Given the description of an element on the screen output the (x, y) to click on. 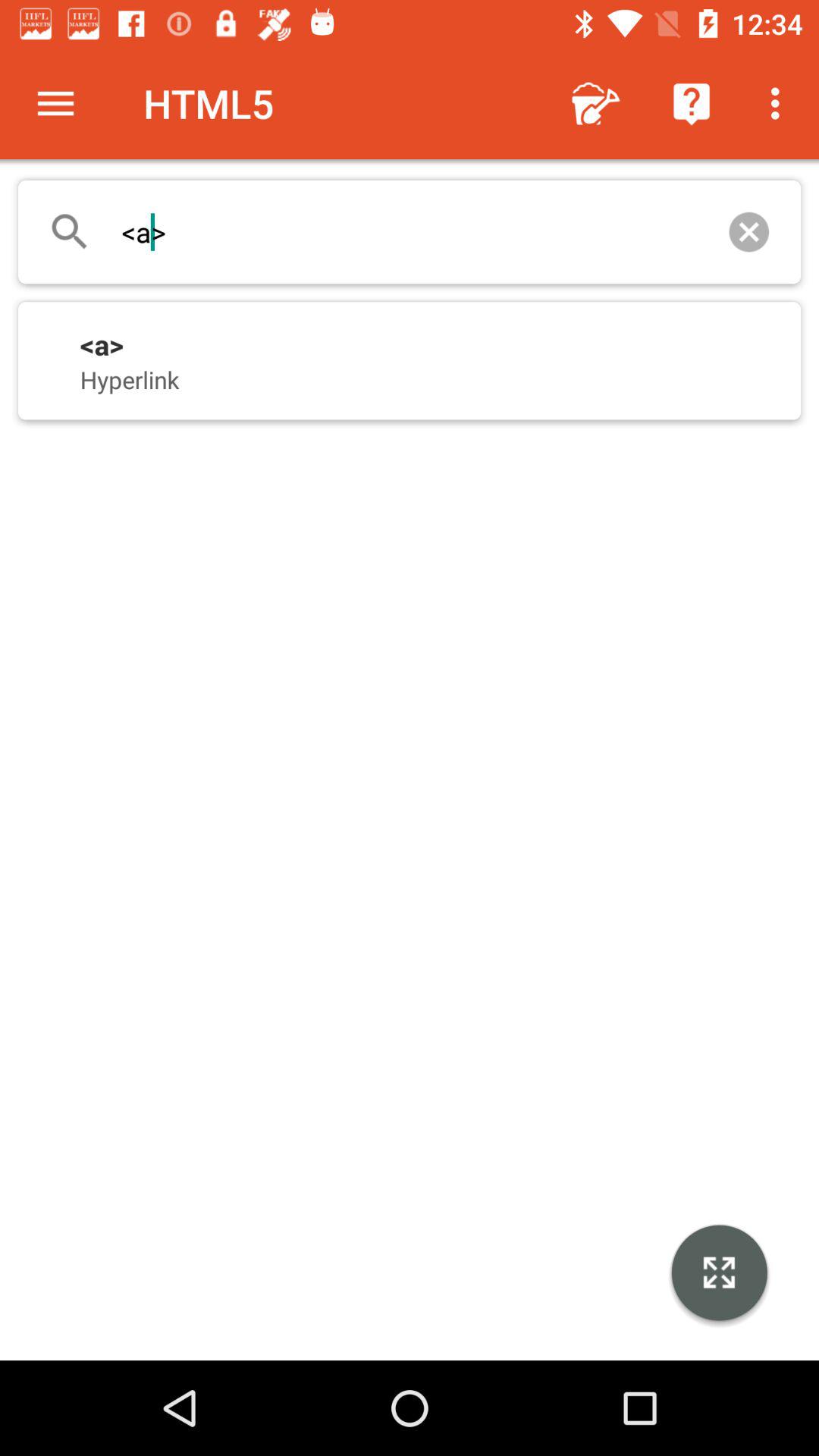
turn on icon next to the html5 item (595, 103)
